Given the description of an element on the screen output the (x, y) to click on. 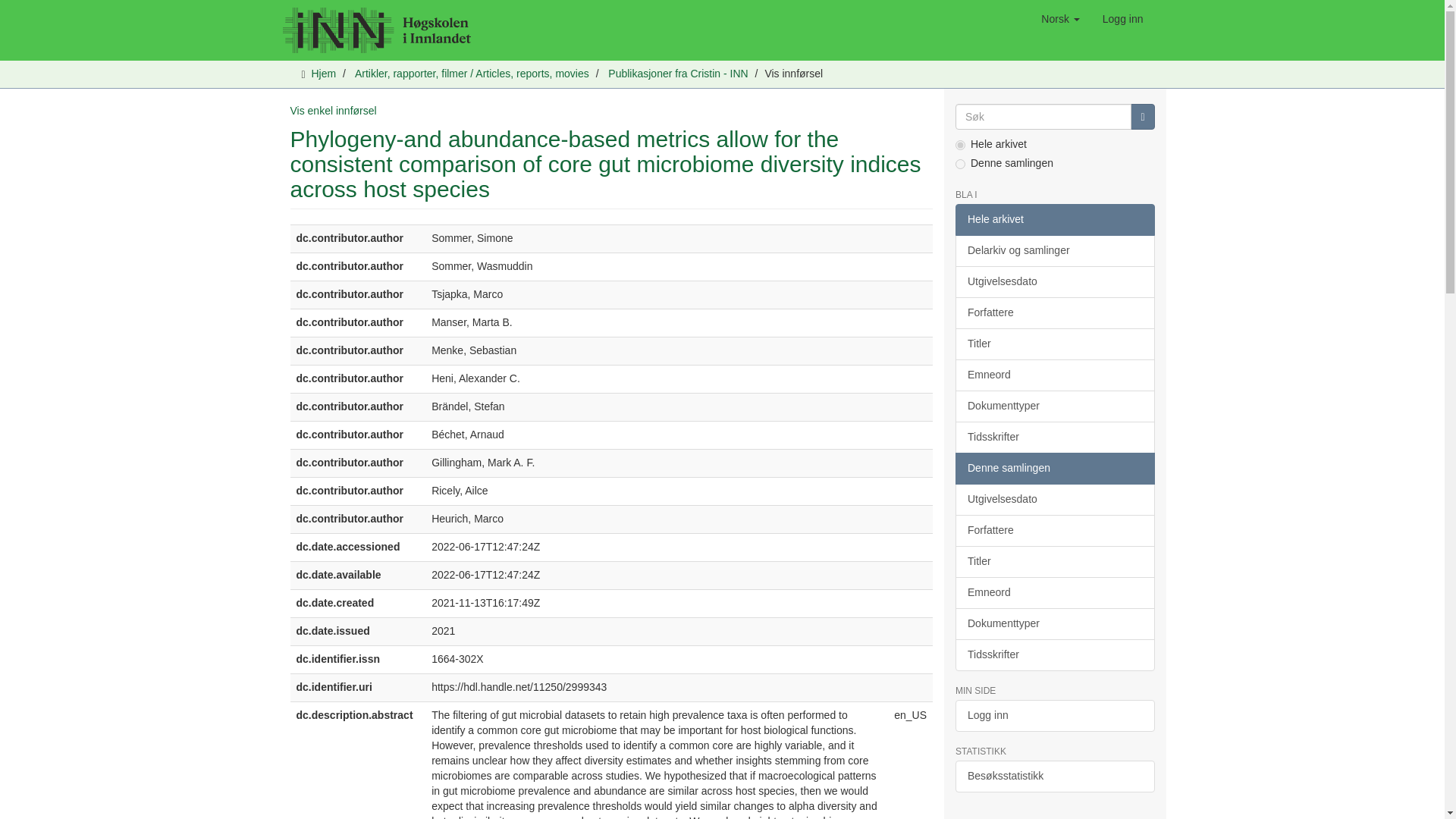
Utgivelsesdato (1054, 282)
Publikasjoner fra Cristin - INN (678, 73)
Hele arkivet (1054, 219)
Norsk  (1059, 18)
Hjem (323, 73)
Delarkiv og samlinger (1054, 250)
Emneord (1054, 375)
Logg inn (1122, 18)
Forfattere (1054, 313)
Titler (1054, 344)
